Given the description of an element on the screen output the (x, y) to click on. 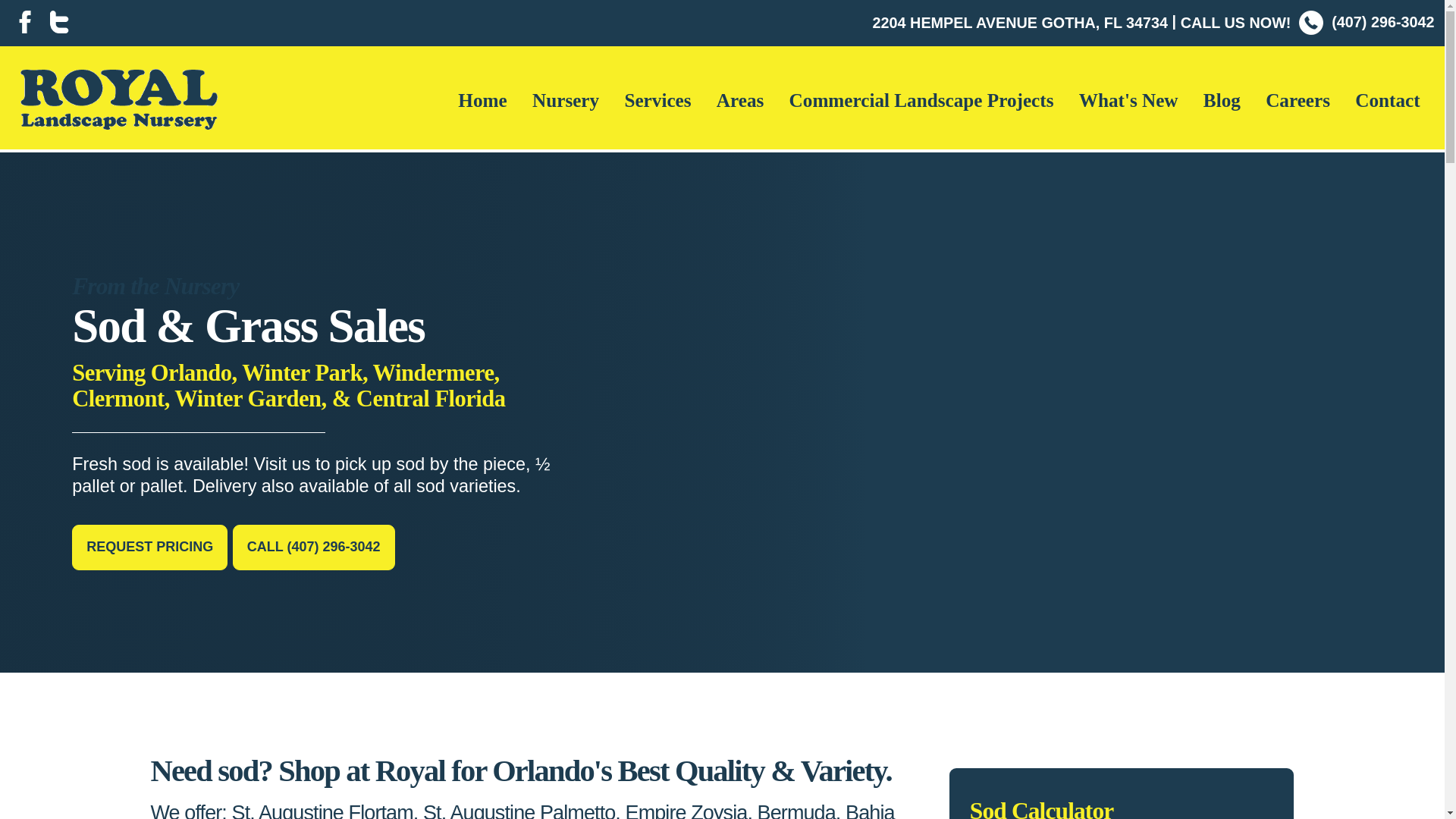
Careers (1297, 101)
Areas (739, 101)
Nursery (565, 101)
REQUEST PRICING (149, 547)
Commercial Landscape Projects (920, 101)
Services (656, 101)
Home (482, 101)
Blog (1221, 101)
Contact (1387, 101)
What's New (1128, 101)
